Given the description of an element on the screen output the (x, y) to click on. 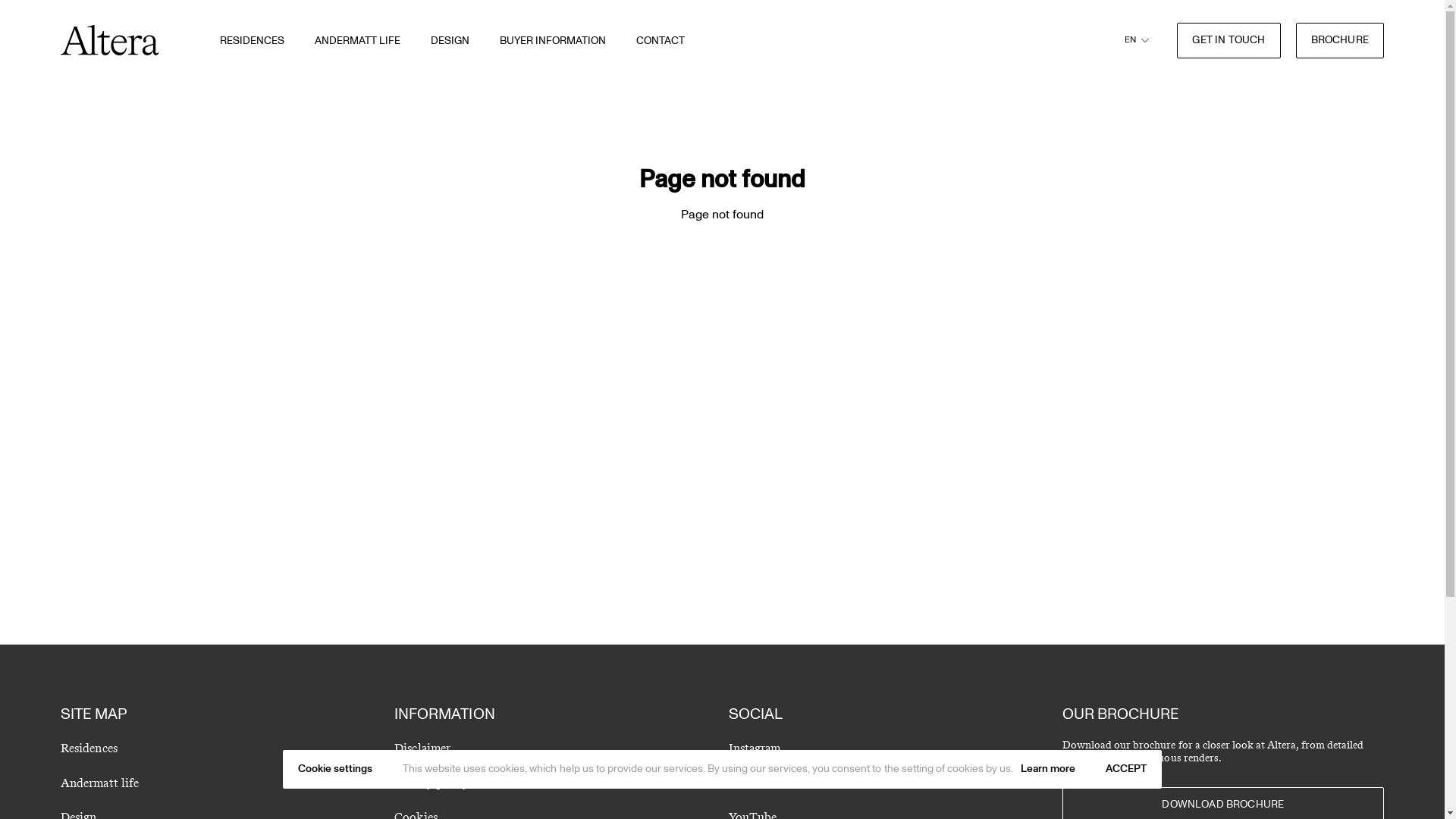
CONTACT Element type: text (660, 40)
Residences Element type: text (88, 747)
Disclaimer Element type: text (422, 747)
Facebook Element type: text (753, 782)
Andermatt life Element type: text (99, 782)
Privacy policy Element type: text (431, 782)
Learn more Element type: text (1047, 768)
GET IN TOUCH Element type: text (1228, 40)
DESIGN Element type: text (449, 40)
BUYER INFORMATION Element type: text (552, 40)
BROCHURE Element type: text (1339, 40)
Instagram Element type: text (754, 747)
ANDERMATT LIFE Element type: text (357, 40)
RESIDENCES Element type: text (251, 40)
